Given the description of an element on the screen output the (x, y) to click on. 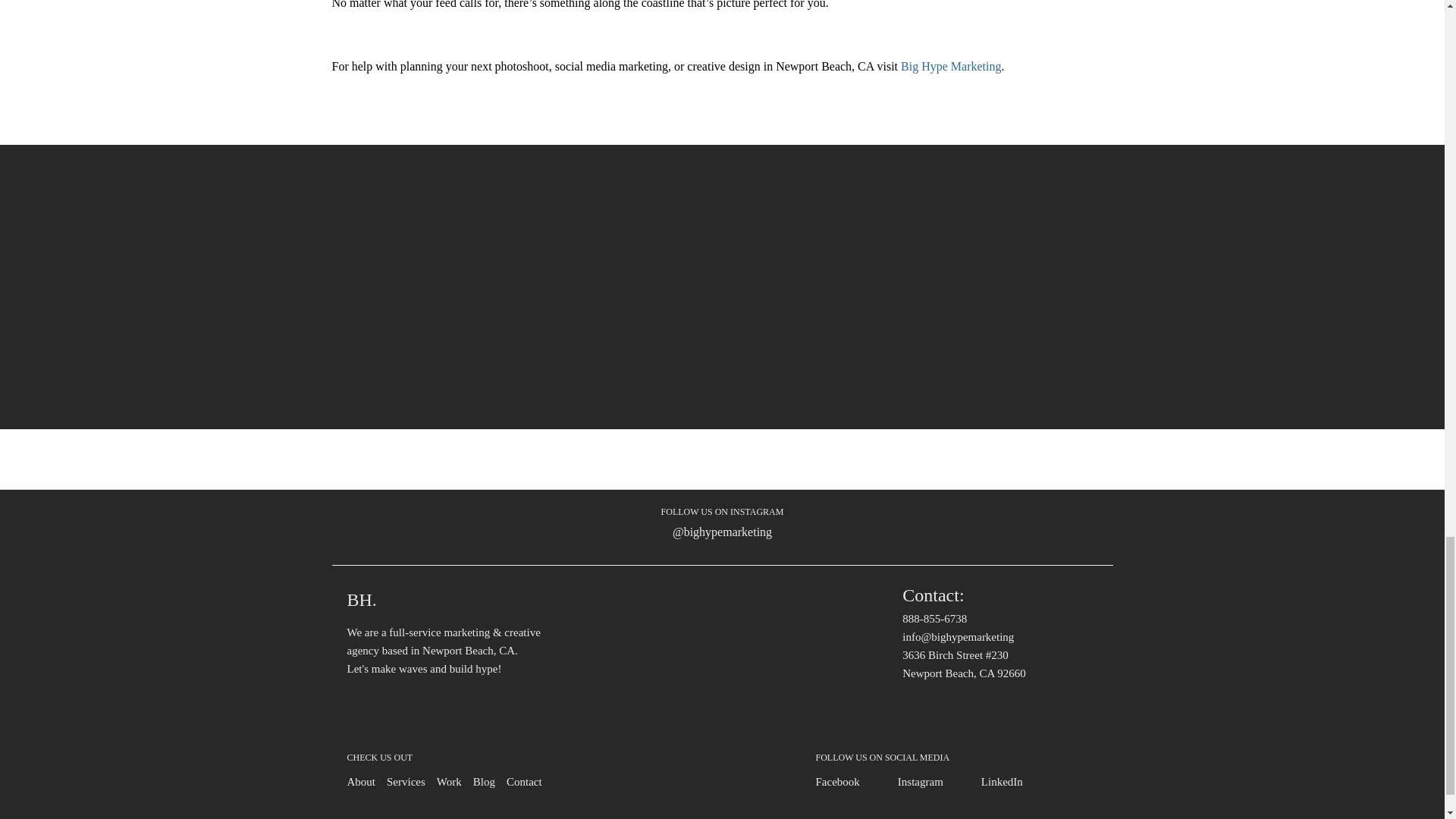
Work (448, 782)
Blog (484, 782)
About (361, 782)
888-855-6738 (934, 618)
Big Hype Marketing (951, 65)
Services (406, 782)
